Given the description of an element on the screen output the (x, y) to click on. 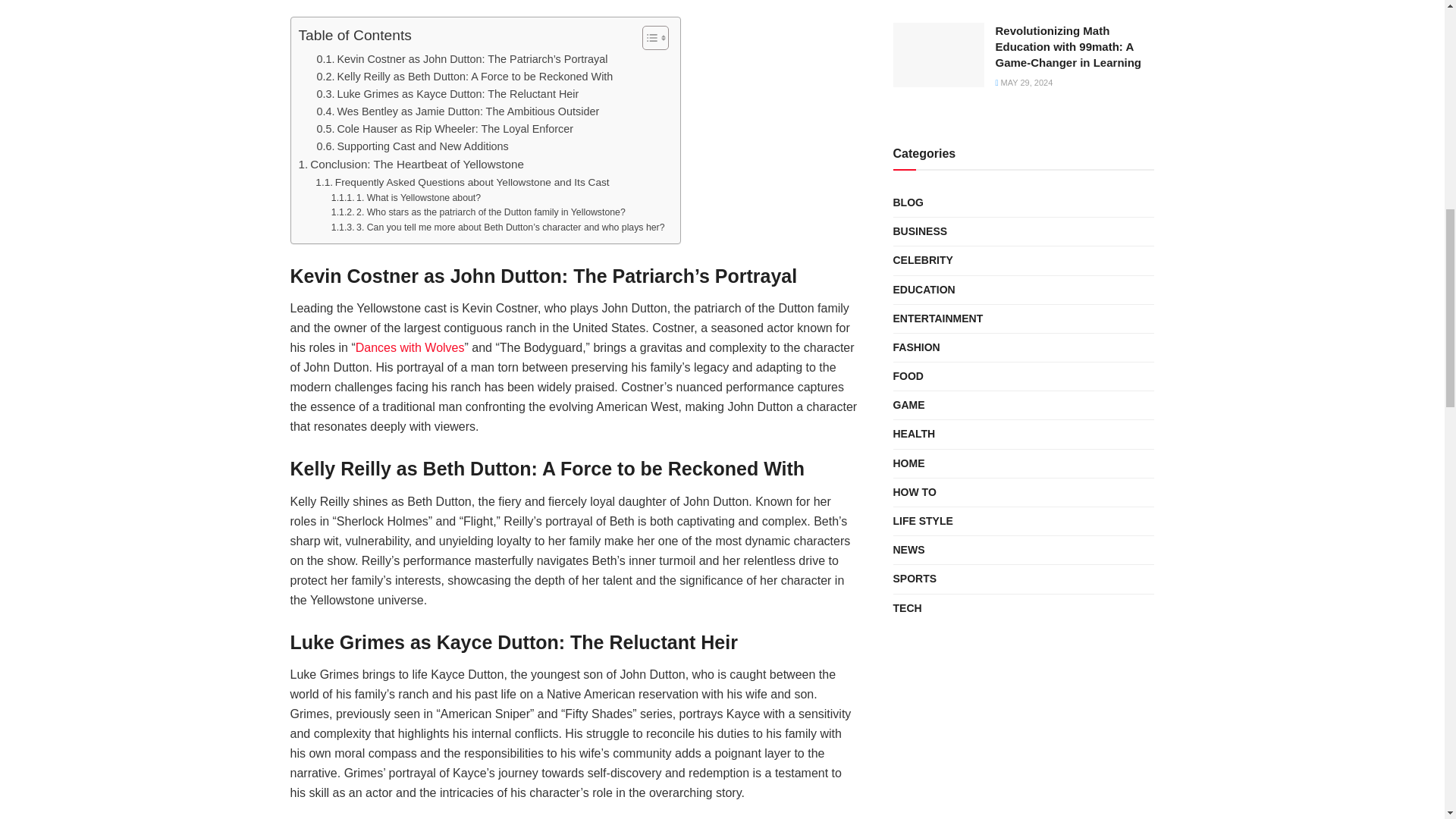
Kelly Reilly as Beth Dutton: A Force to be Reckoned With (464, 76)
Conclusion: The Heartbeat of Yellowstone (411, 164)
Cole Hauser as Rip Wheeler: The Loyal Enforcer (445, 129)
Luke Grimes as Kayce Dutton: The Reluctant Heir (448, 94)
Wes Bentley as Jamie Dutton: The Ambitious Outsider (458, 111)
Frequently Asked Questions about Yellowstone and Its Cast (461, 182)
Supporting Cast and New Additions (412, 146)
1. What is Yellowstone about? (405, 198)
